Given the description of an element on the screen output the (x, y) to click on. 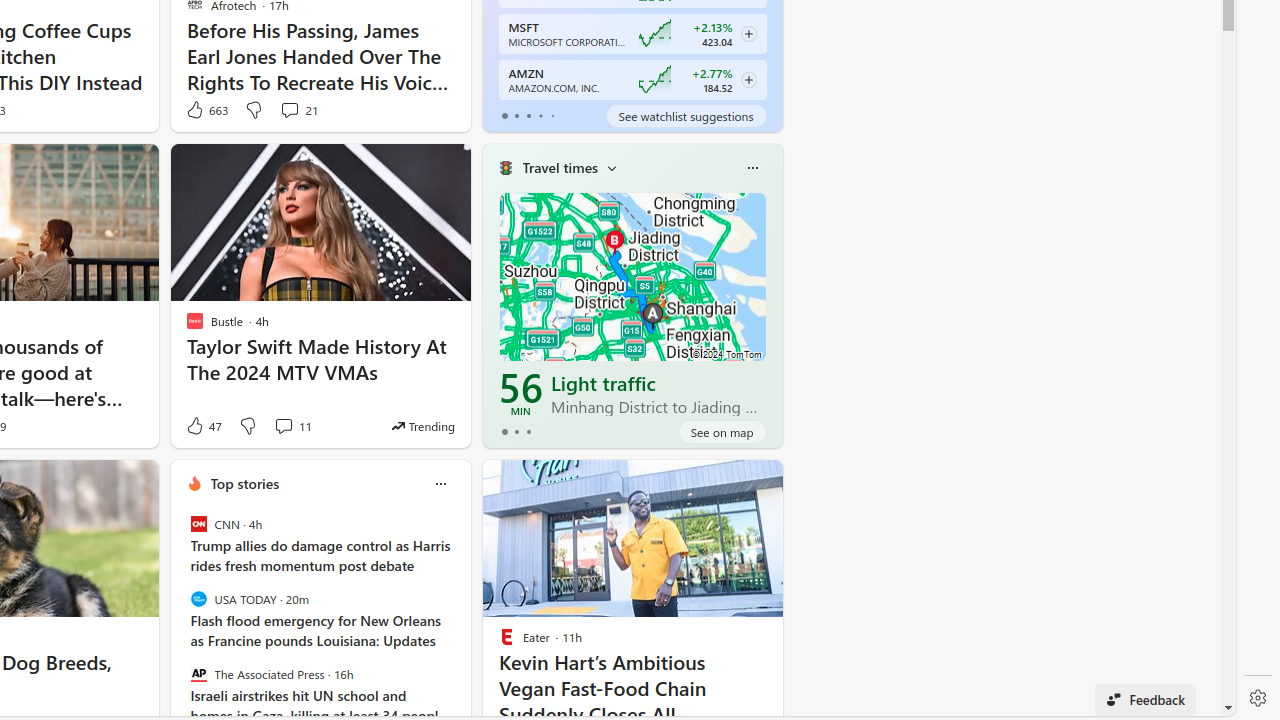
Change scenarios Element type: push-button (612, 168)
Top stories Element type: link (245, 484)
This story is trending Element type: push-button (423, 425)
tab-4 Element type: page-tab (552, 115)
Terms of use Element type: link (874, 703)
